Given the description of an element on the screen output the (x, y) to click on. 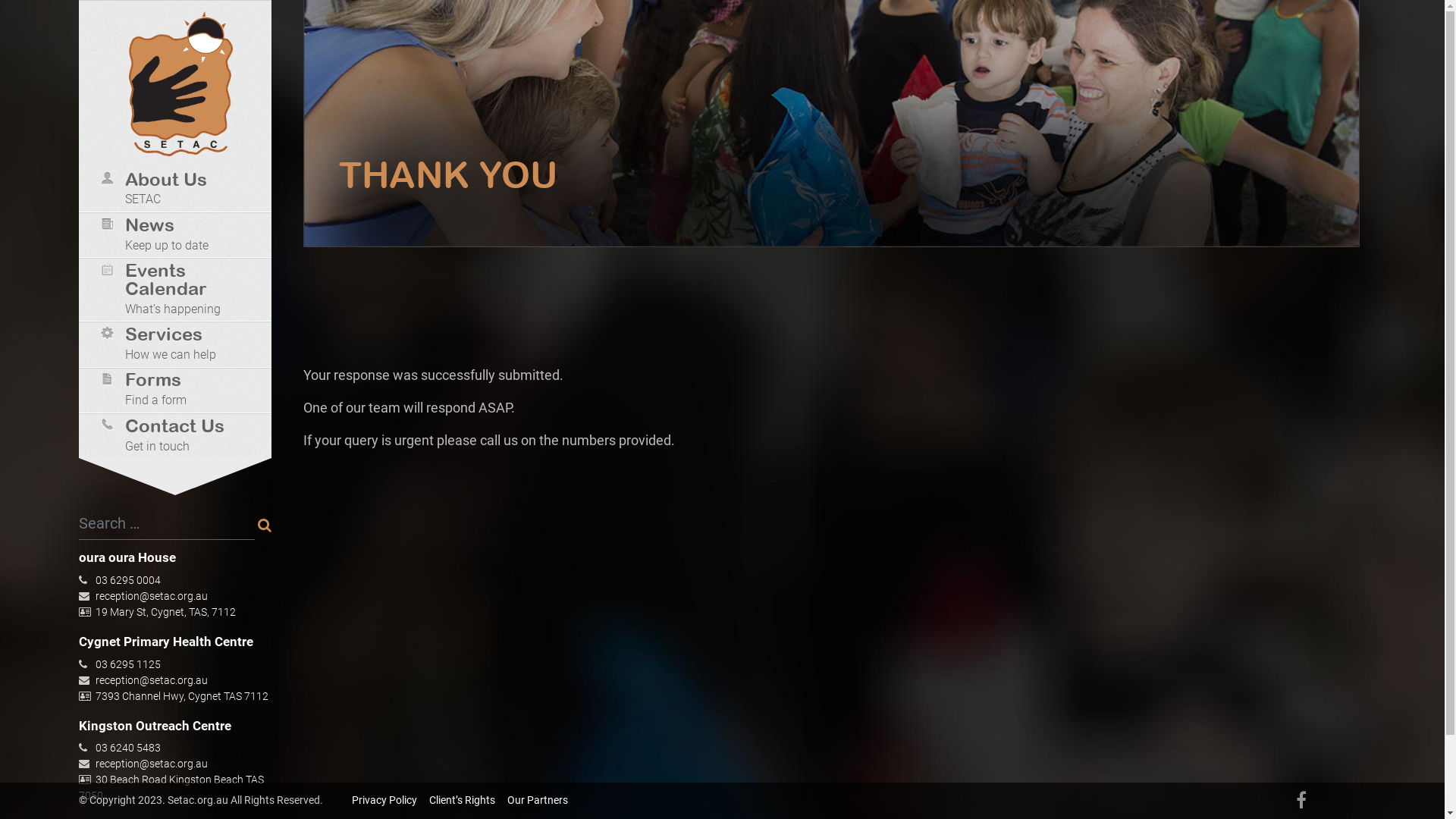
19 Mary St, Cygnet, TAS, 7112 Element type: text (165, 611)
reception@setac.org.au Element type: text (151, 763)
Contact Us
Get in touch Element type: text (180, 437)
reception@setac.org.au Element type: text (151, 595)
Privacy Policy Element type: text (384, 799)
reception@setac.org.au Element type: text (151, 680)
03 6295 1125 Element type: text (127, 664)
Our Partners Element type: text (536, 799)
03 6240 5483 Element type: text (127, 747)
Forms
Find a form Element type: text (180, 391)
About Us
SETAC Element type: text (180, 190)
Services
How we can help Element type: text (180, 345)
News
Keep up to date Element type: text (180, 236)
03 6295 0004 Element type: text (127, 580)
